Given the description of an element on the screen output the (x, y) to click on. 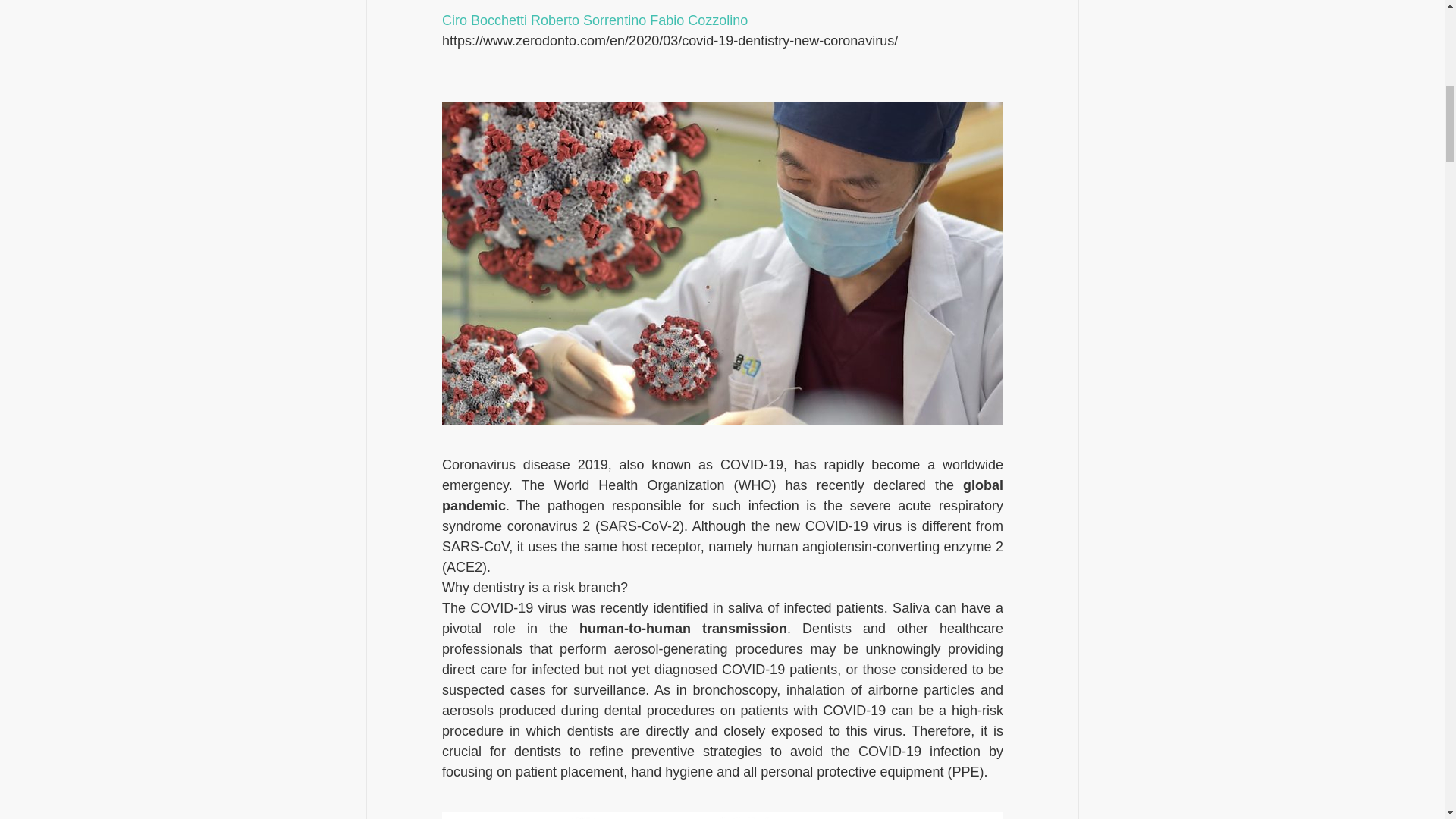
Roberto Sorrentino (588, 20)
Ciro Bocchetti (483, 20)
Fabio Cozzolino (698, 20)
